Given the description of an element on the screen output the (x, y) to click on. 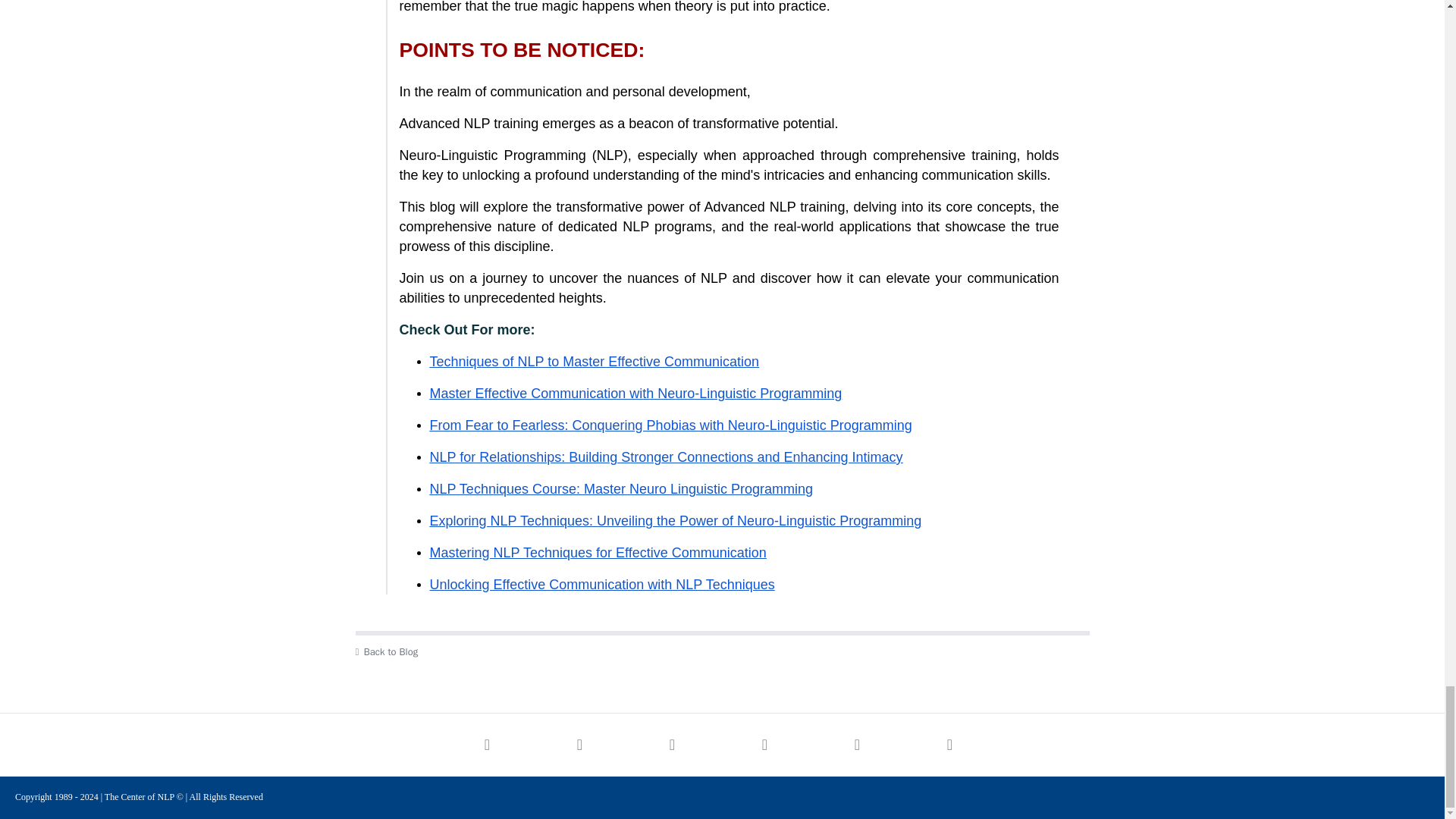
Techniques of NLP to Master Effective Communication (593, 362)
Mastering NLP Techniques for Effective Communication (597, 553)
Back to Blog (722, 652)
NLP Techniques Course: Master Neuro Linguistic Programming (620, 489)
